Given the description of an element on the screen output the (x, y) to click on. 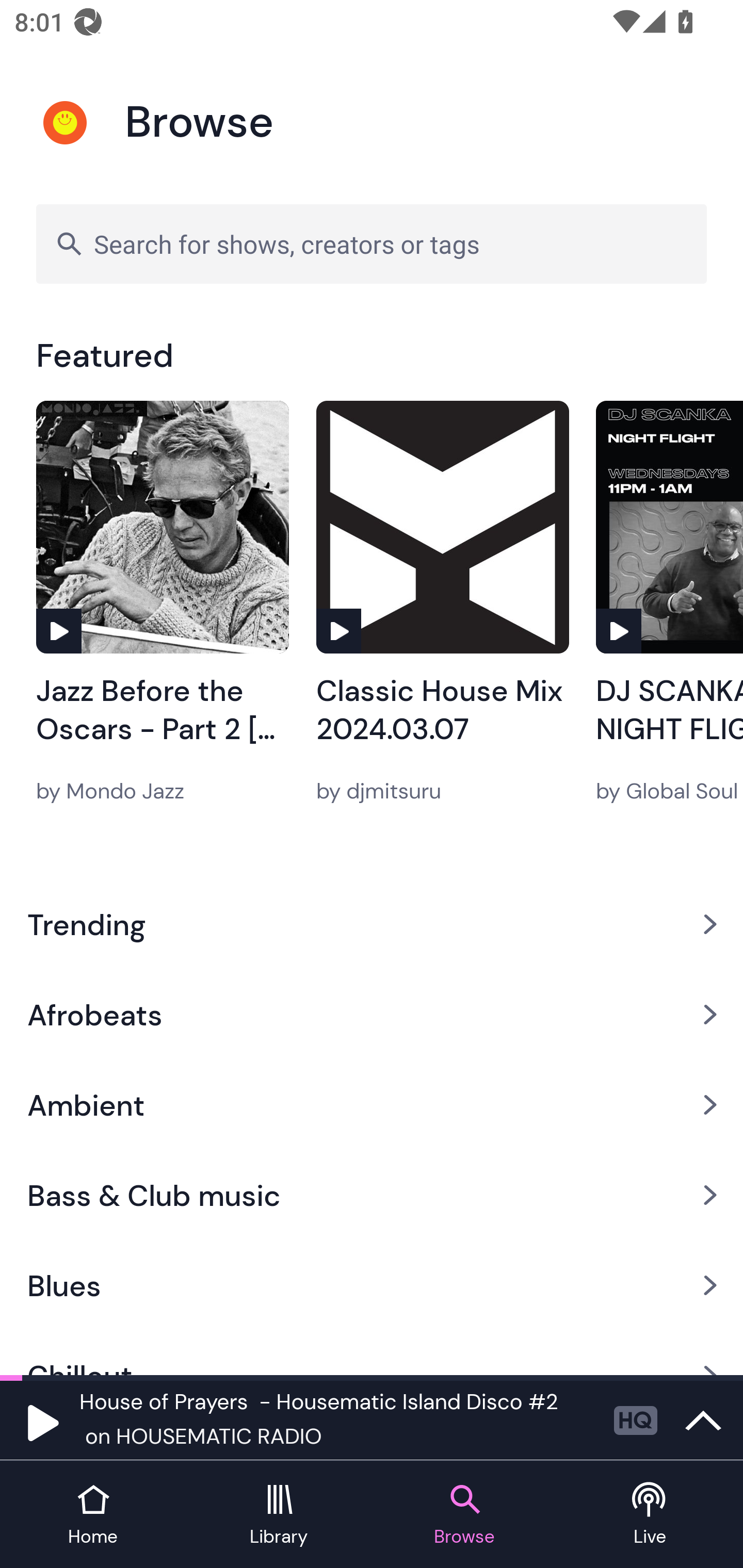
Search for shows, creators or tags (371, 243)
Trending (371, 924)
Afrobeats (371, 1014)
Ambient (371, 1104)
Bass & Club music (371, 1195)
Blues (371, 1285)
Home tab Home (92, 1515)
Library tab Library (278, 1515)
Browse tab Browse (464, 1515)
Live tab Live (650, 1515)
